Given the description of an element on the screen output the (x, y) to click on. 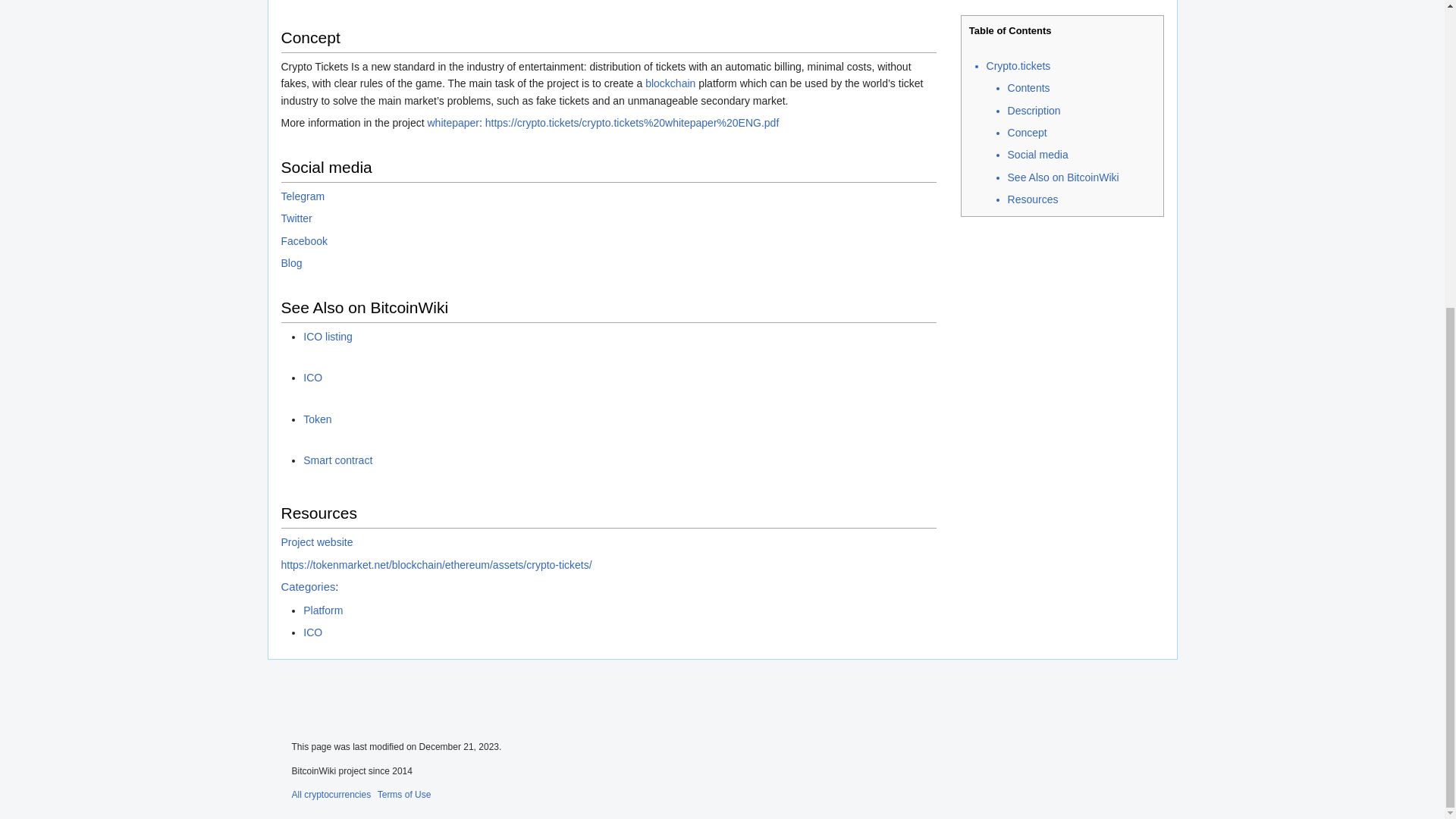
ICO (311, 377)
All cryptocurrencies (331, 792)
whitepaper (452, 122)
Whitepaper (452, 122)
Category:Platform (322, 610)
Terms of Use (403, 792)
Project website (316, 541)
Token (316, 419)
ICO listing (327, 336)
blockchain (670, 82)
